Given the description of an element on the screen output the (x, y) to click on. 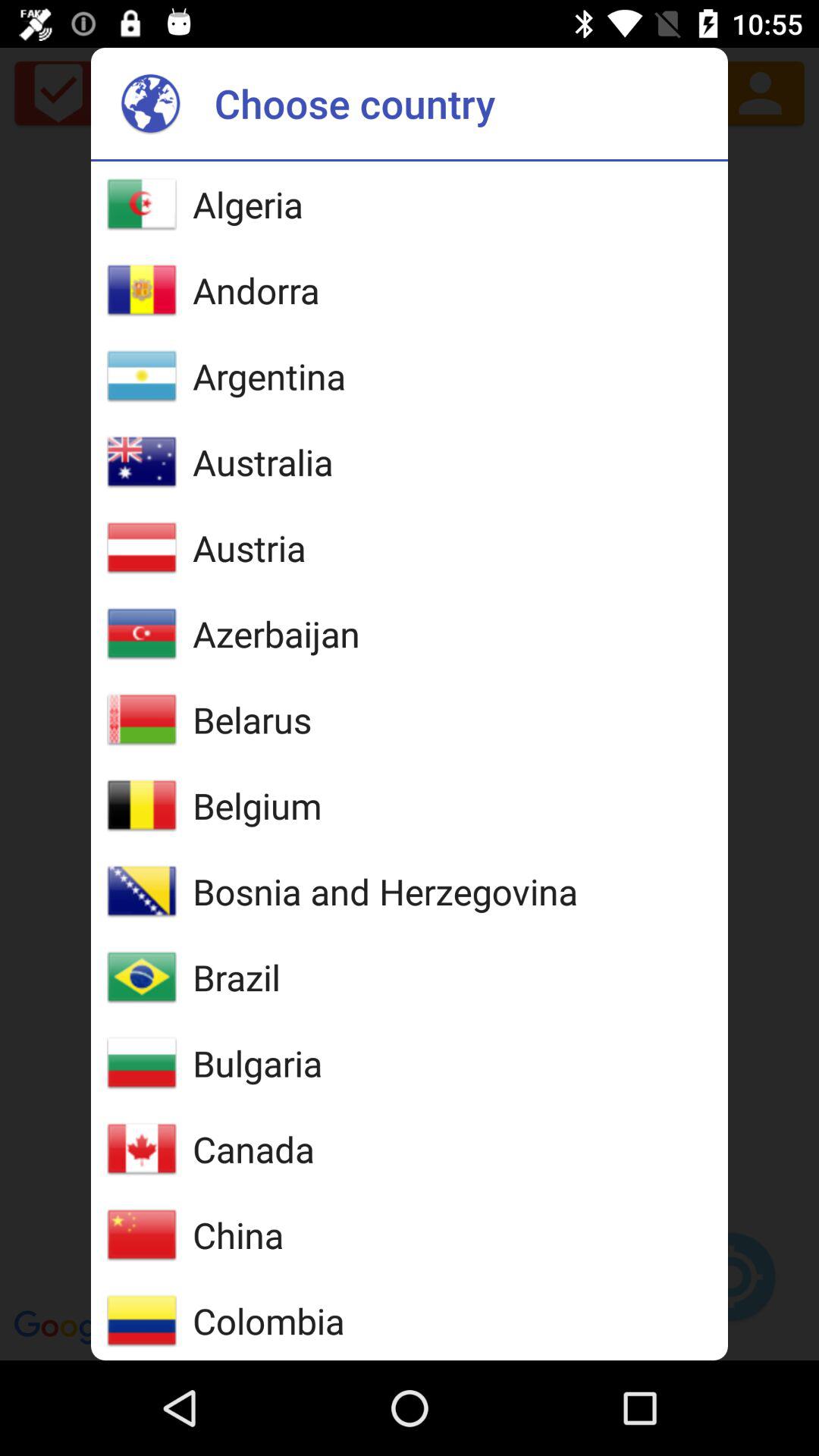
select the icon below the argentina item (262, 461)
